Given the description of an element on the screen output the (x, y) to click on. 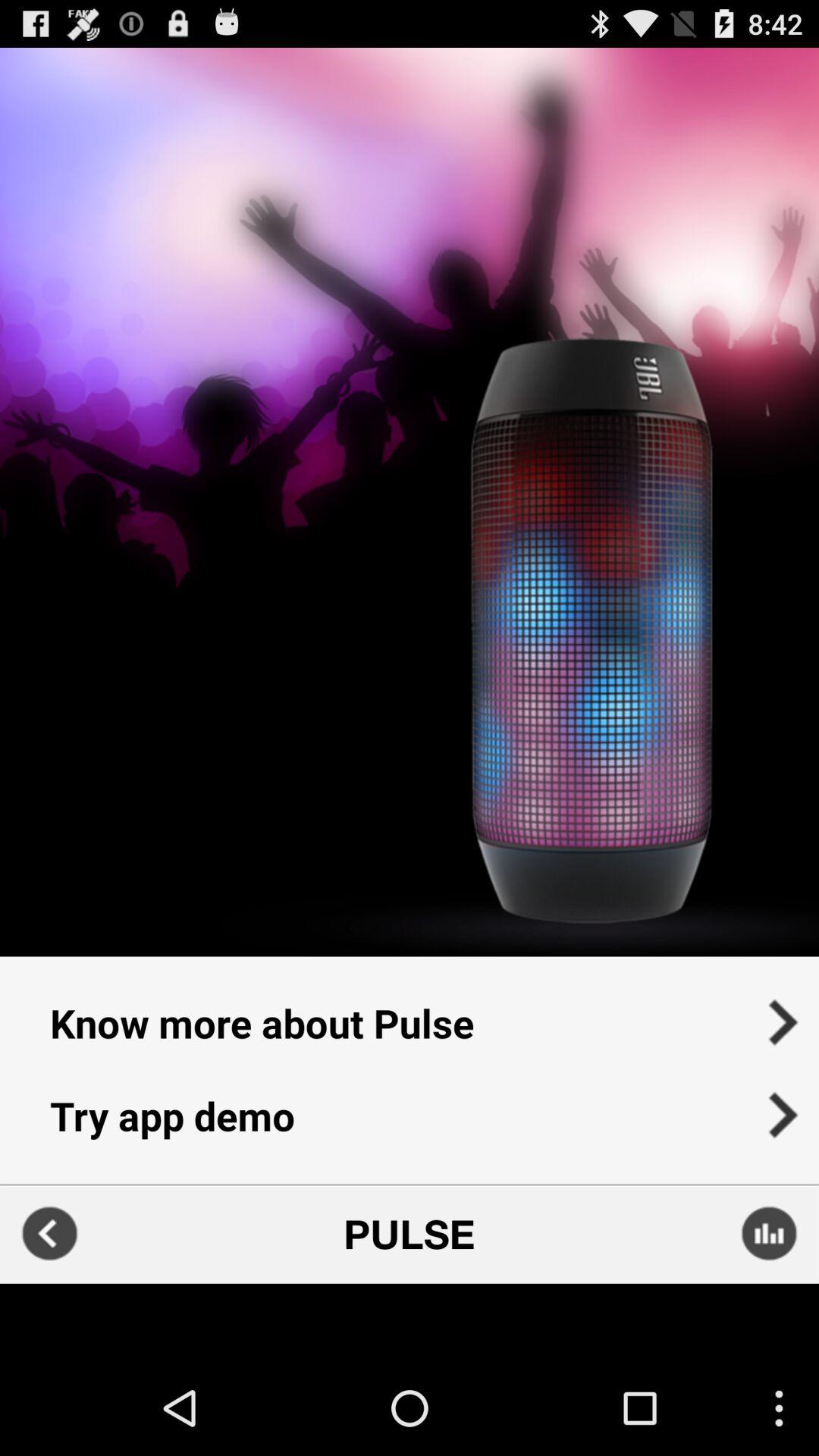
jump to the know more about (409, 1012)
